Given the description of an element on the screen output the (x, y) to click on. 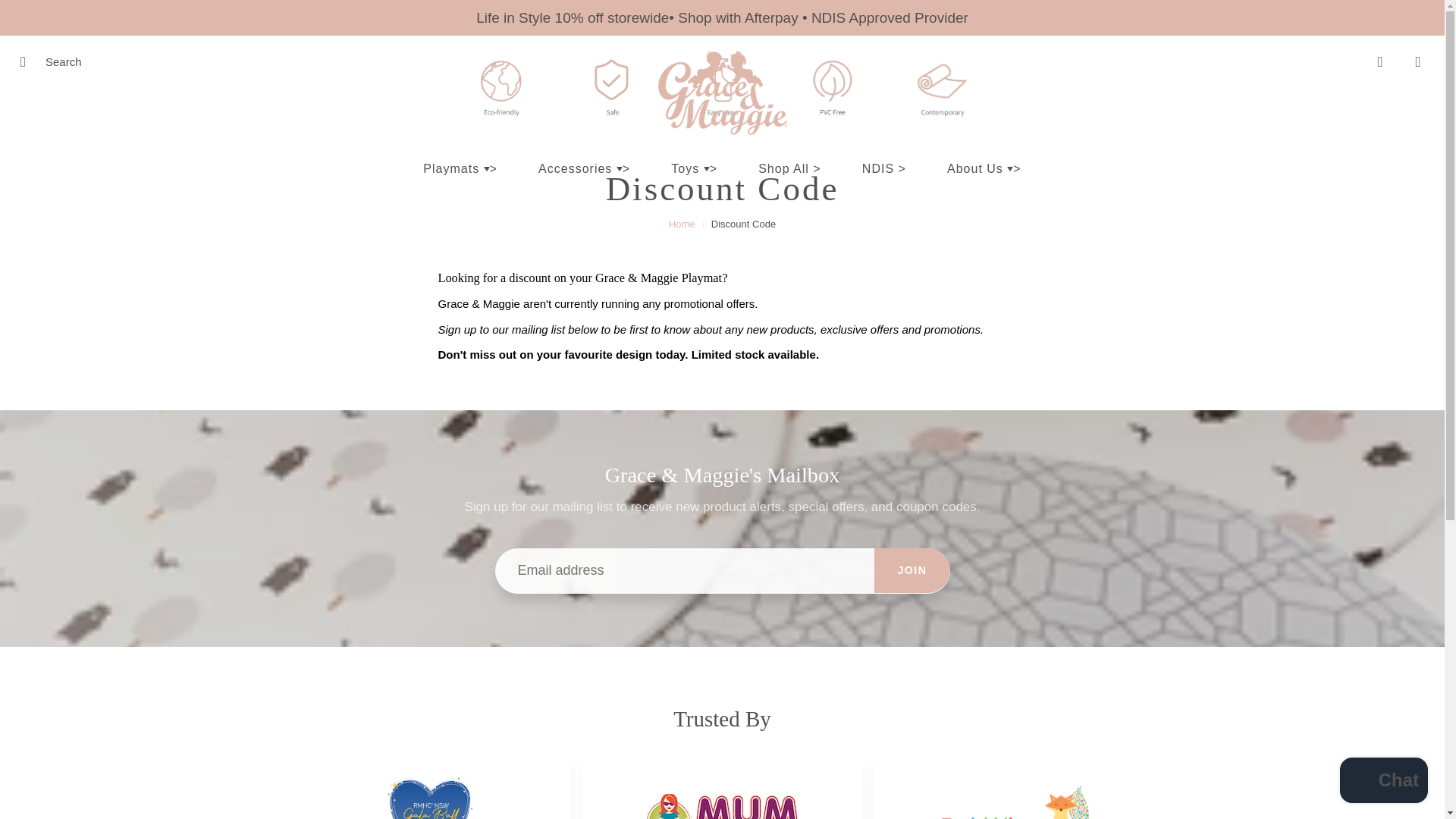
You have 0 items in your cart (1417, 61)
My account (1379, 61)
Search (28, 61)
Home (681, 224)
Shopify online store chat (1383, 781)
